Given the description of an element on the screen output the (x, y) to click on. 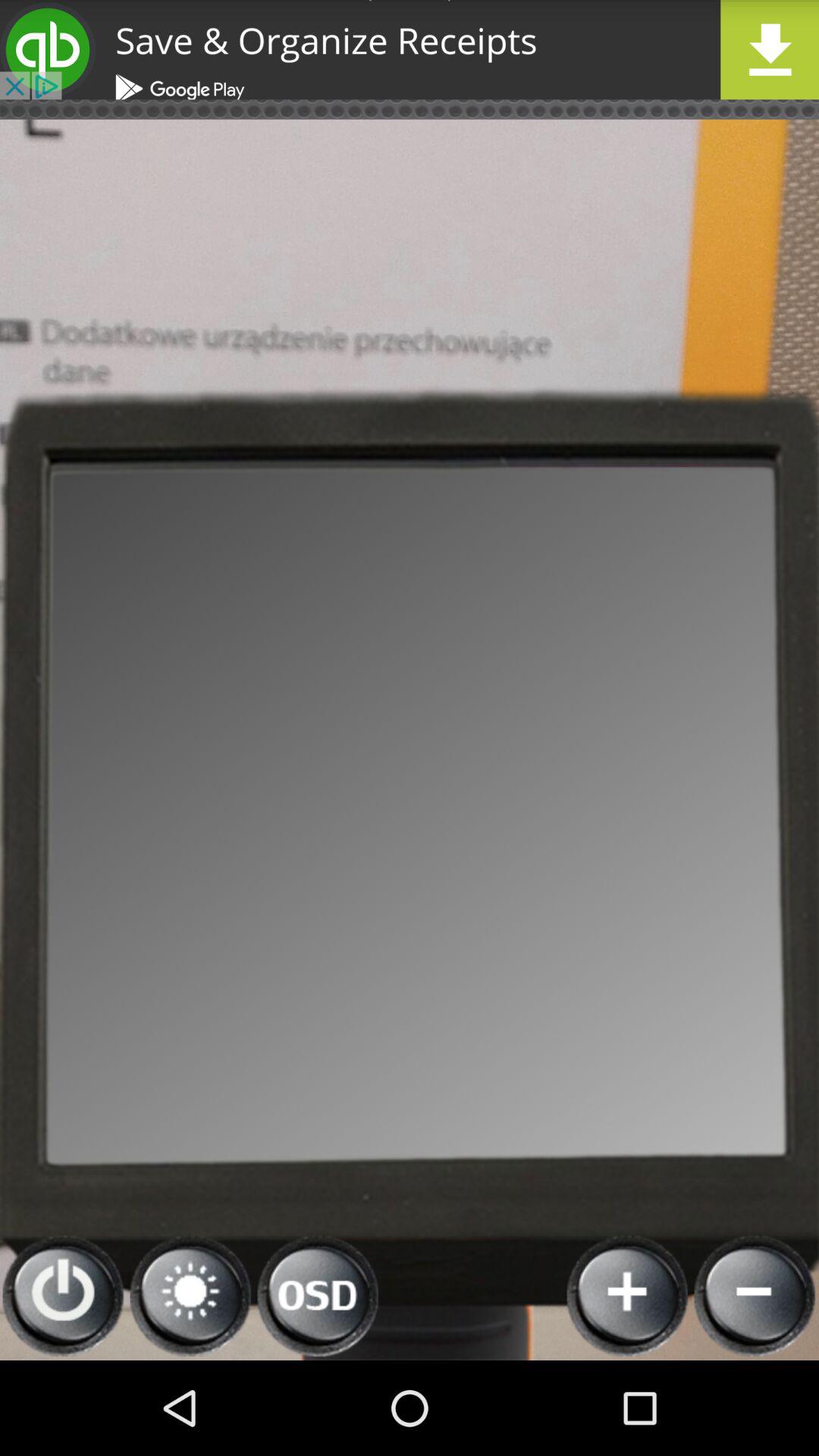
increase the amount (627, 1296)
